Given the description of an element on the screen output the (x, y) to click on. 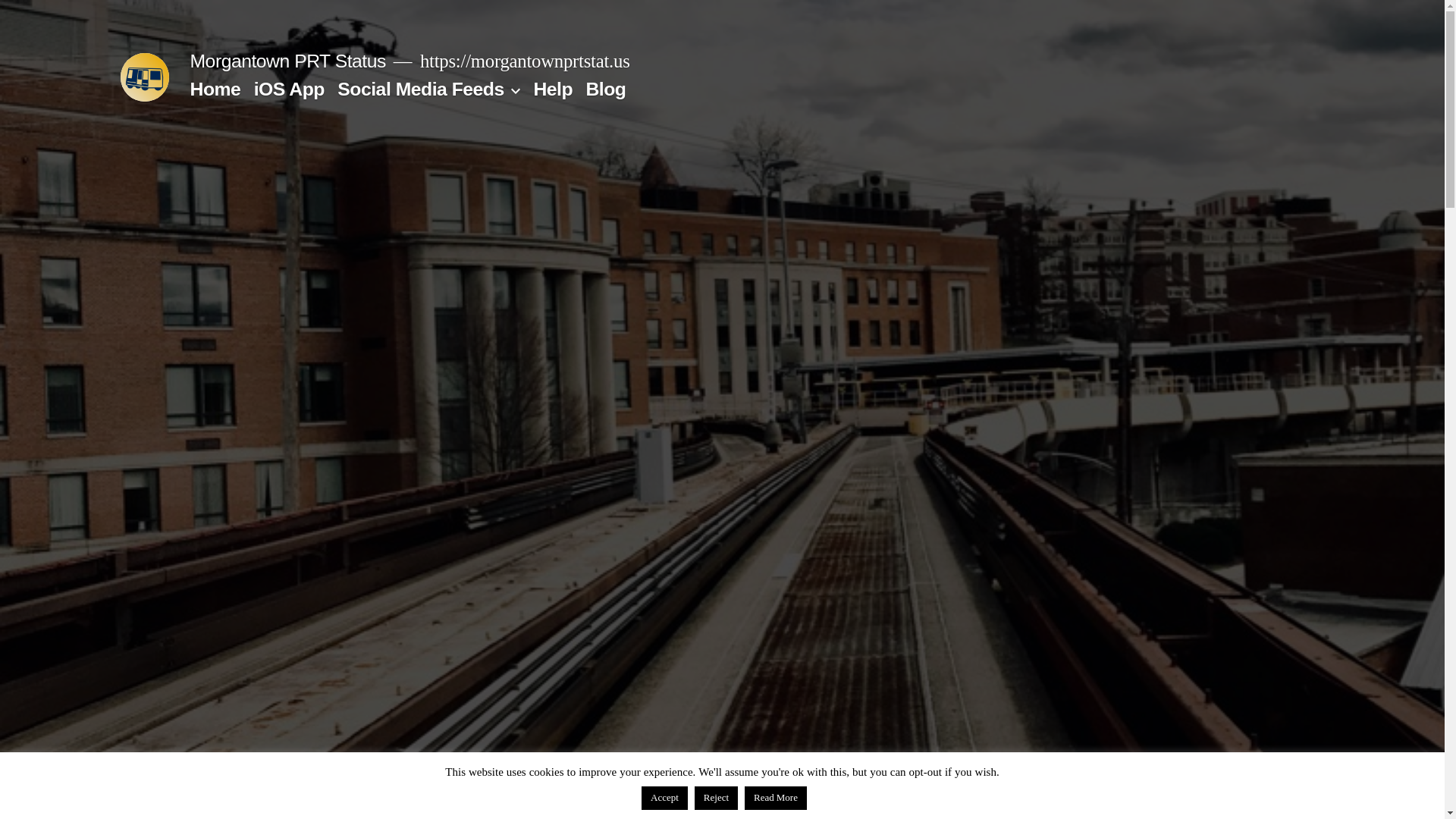
Home (214, 88)
Help (552, 88)
Morgantown PRT Status (287, 60)
Social Media Feeds (420, 88)
Blog (605, 88)
Accept (664, 797)
iOS App (288, 88)
Read More (775, 797)
Reject (716, 797)
